Given the description of an element on the screen output the (x, y) to click on. 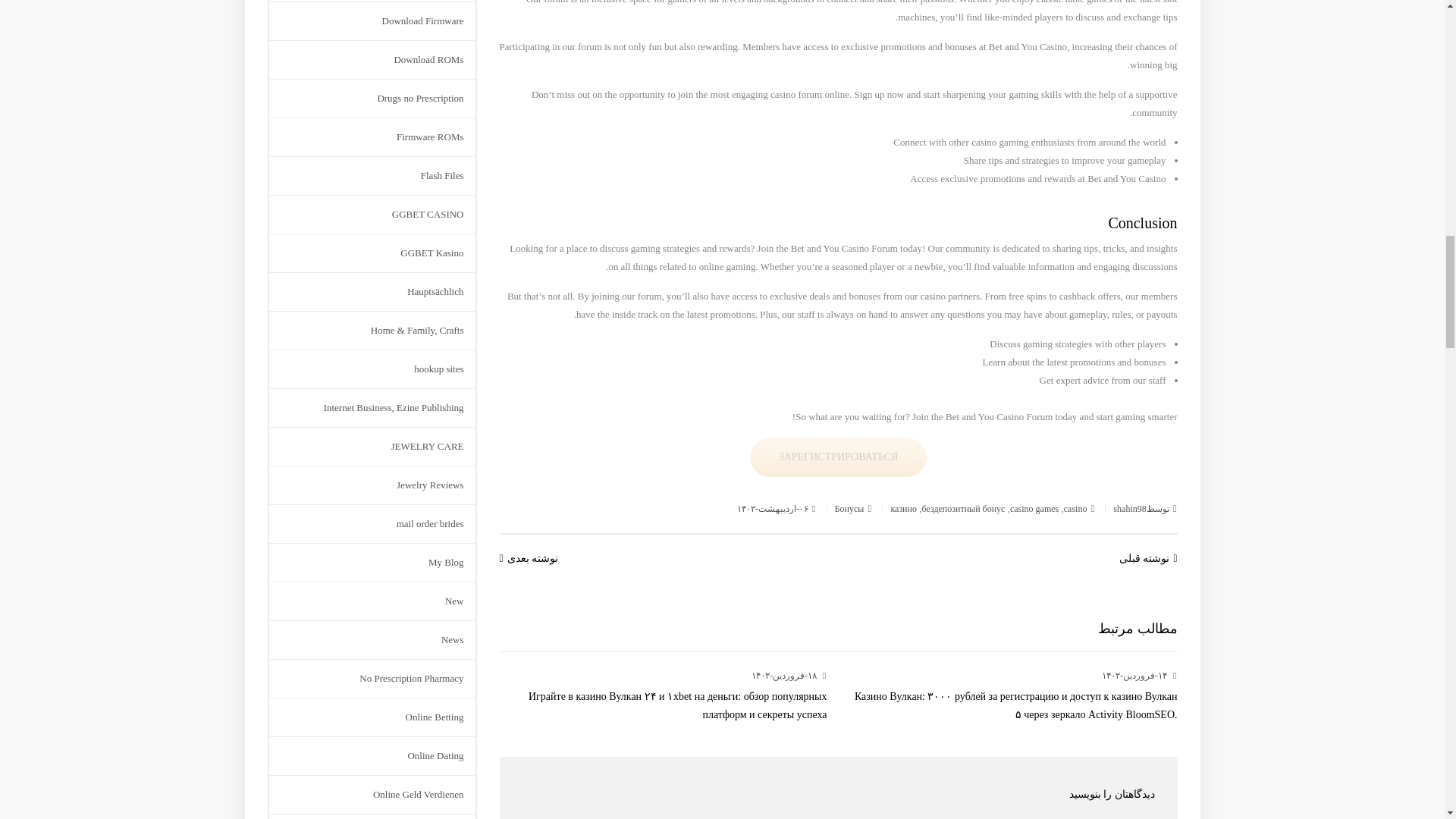
Internet Business, Ezine Publishing (393, 407)
